Given the description of an element on the screen output the (x, y) to click on. 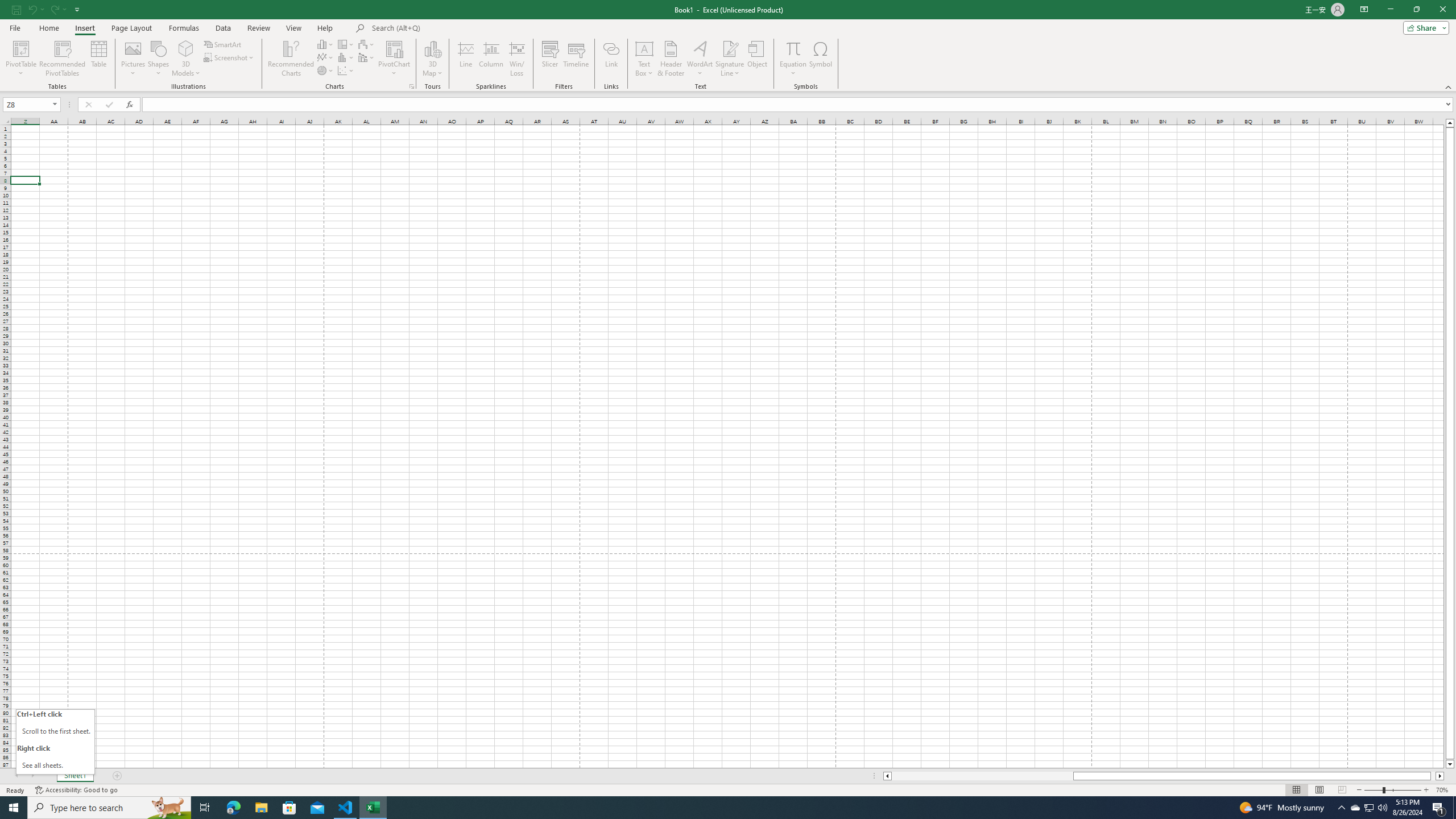
Screenshot (229, 56)
Equation (793, 58)
Table (98, 58)
Recommended Charts (411, 85)
Column (491, 58)
Insert Column or Bar Chart (325, 44)
Link (611, 58)
